Given the description of an element on the screen output the (x, y) to click on. 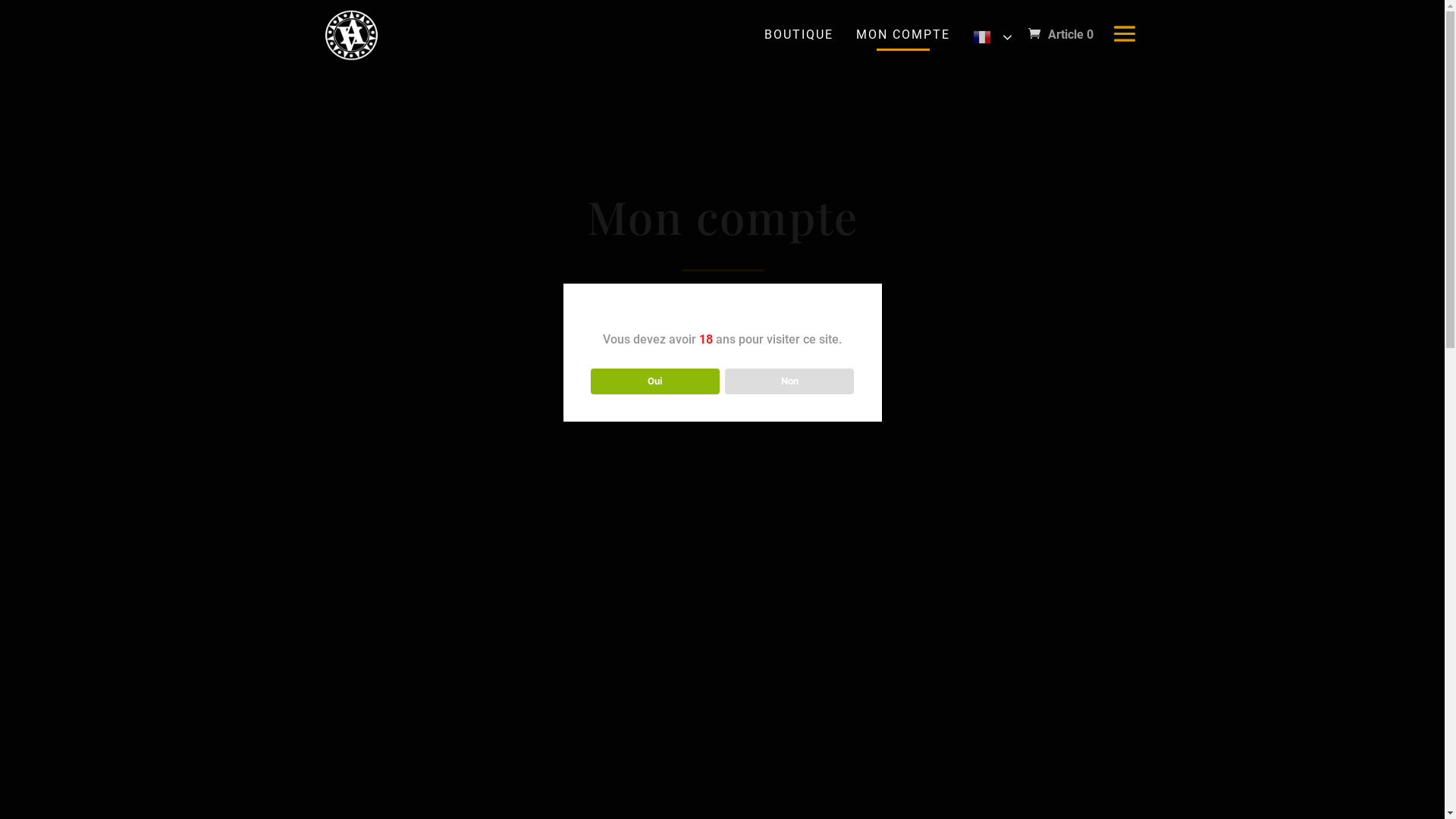
BOUTIQUE Element type: text (797, 34)
FRENCH Element type: text (991, 36)
Oui Element type: text (655, 381)
Article 0 Element type: text (1060, 34)
MON COMPTE Element type: text (902, 34)
Non Element type: text (789, 381)
